Given the description of an element on the screen output the (x, y) to click on. 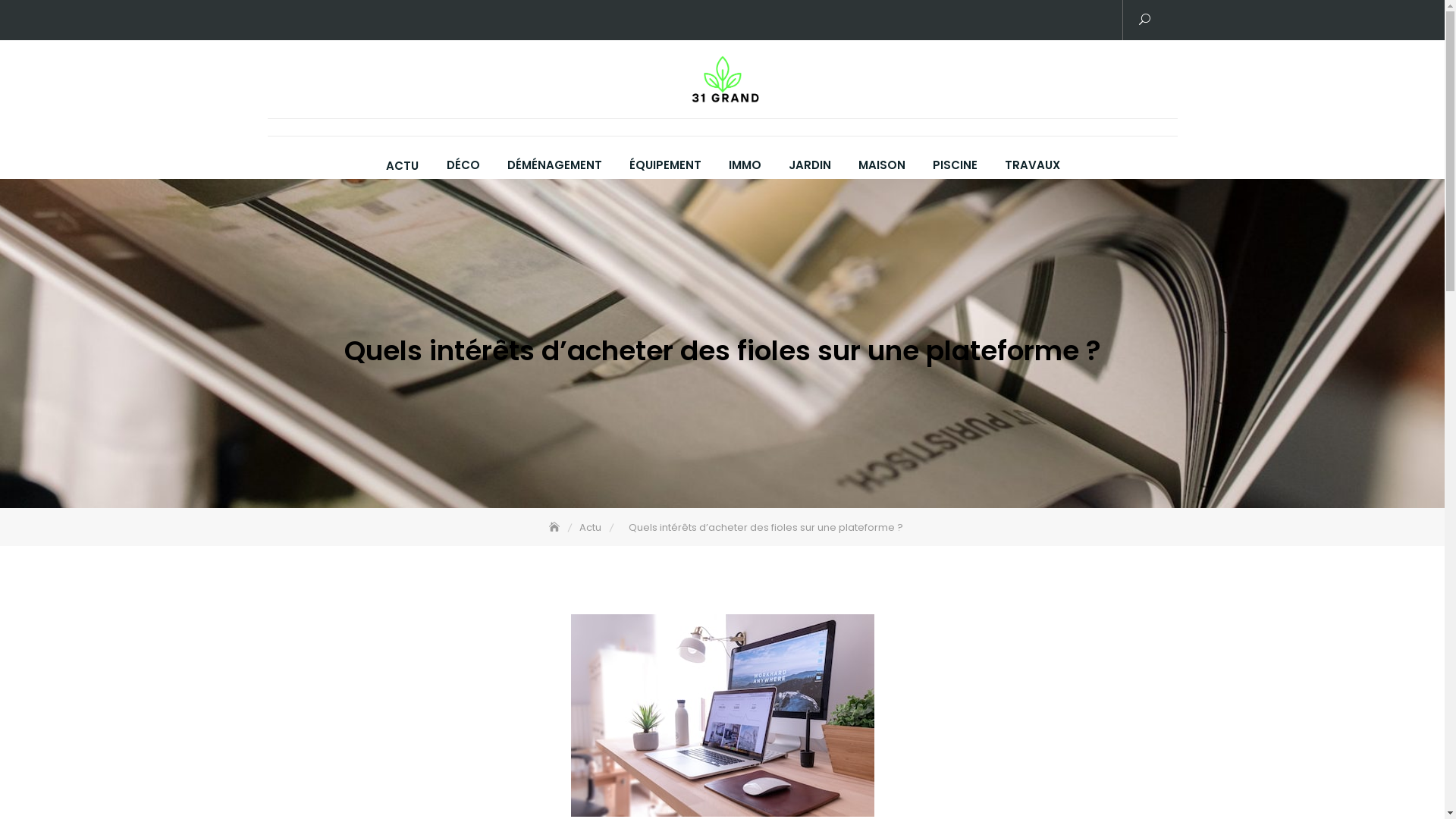
Home Element type: text (555, 527)
PISCINE Element type: text (954, 165)
JARDIN Element type: text (809, 165)
MAISON Element type: text (881, 165)
ACTU Element type: text (401, 165)
IMMO Element type: text (743, 165)
Actu Element type: text (591, 527)
TRAVAUX Element type: text (1031, 165)
